Given the description of an element on the screen output the (x, y) to click on. 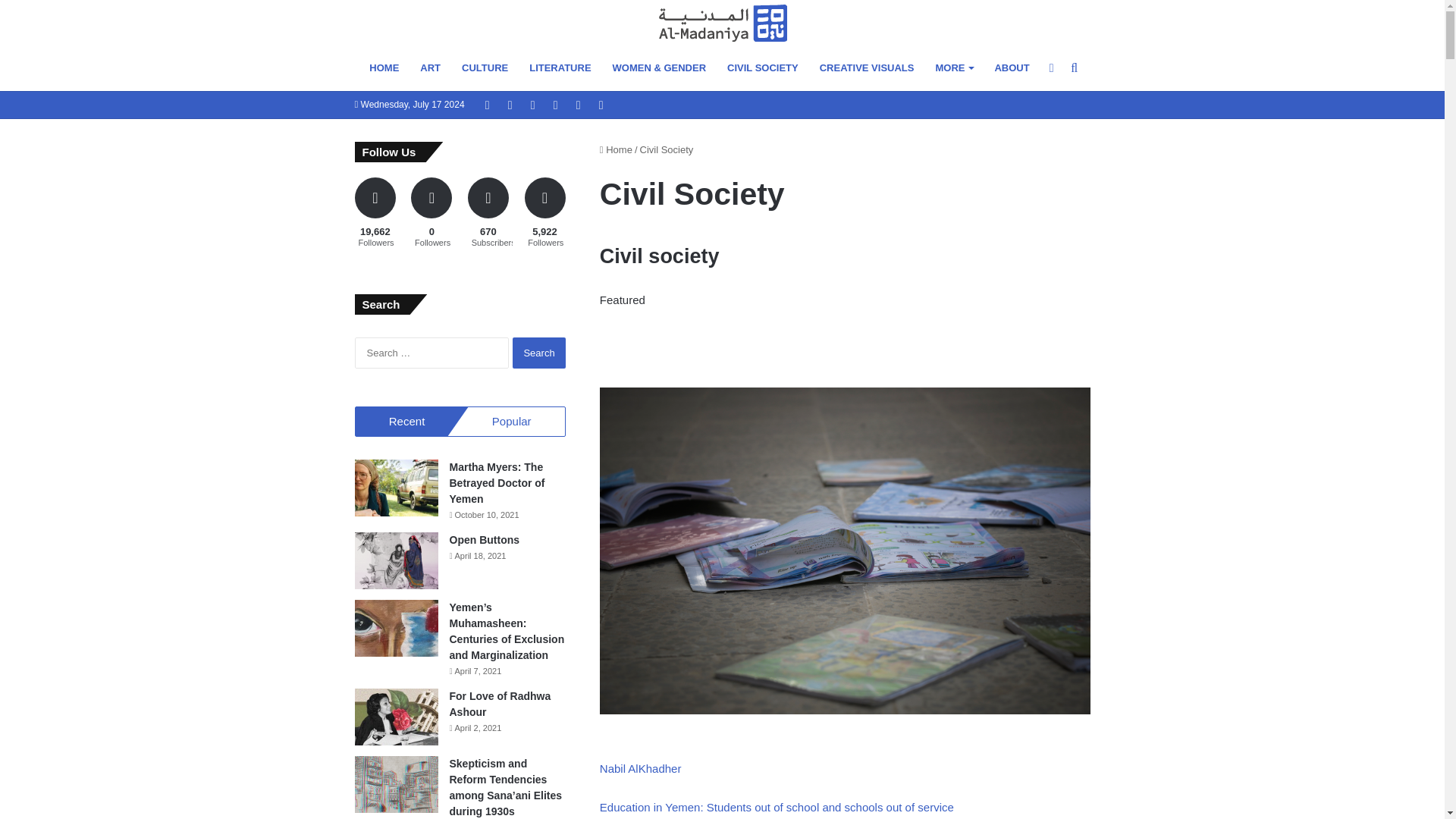
ABOUT (1011, 67)
CREATIVE VISUALS (866, 67)
Search (539, 352)
CIVIL SOCIETY (762, 67)
MORE (954, 67)
Home (615, 149)
LITERATURE (559, 67)
CULTURE (484, 67)
Nabil AlKhadher (640, 768)
ART (430, 67)
Search (539, 352)
HOME (383, 67)
